Given the description of an element on the screen output the (x, y) to click on. 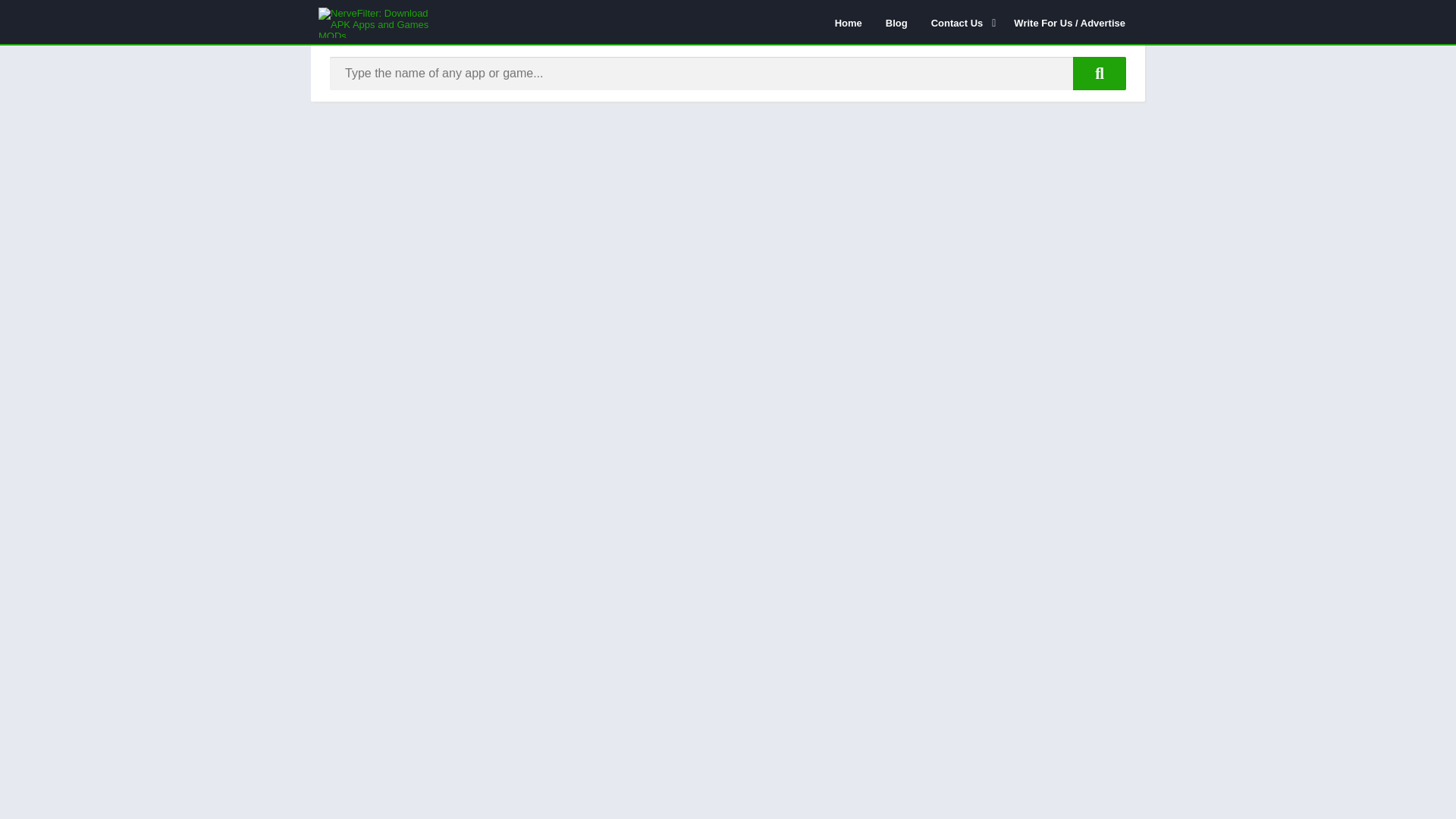
Home (848, 22)
Contact Us (961, 22)
Blog (896, 22)
Type the name of any app or game... (1099, 73)
